Given the description of an element on the screen output the (x, y) to click on. 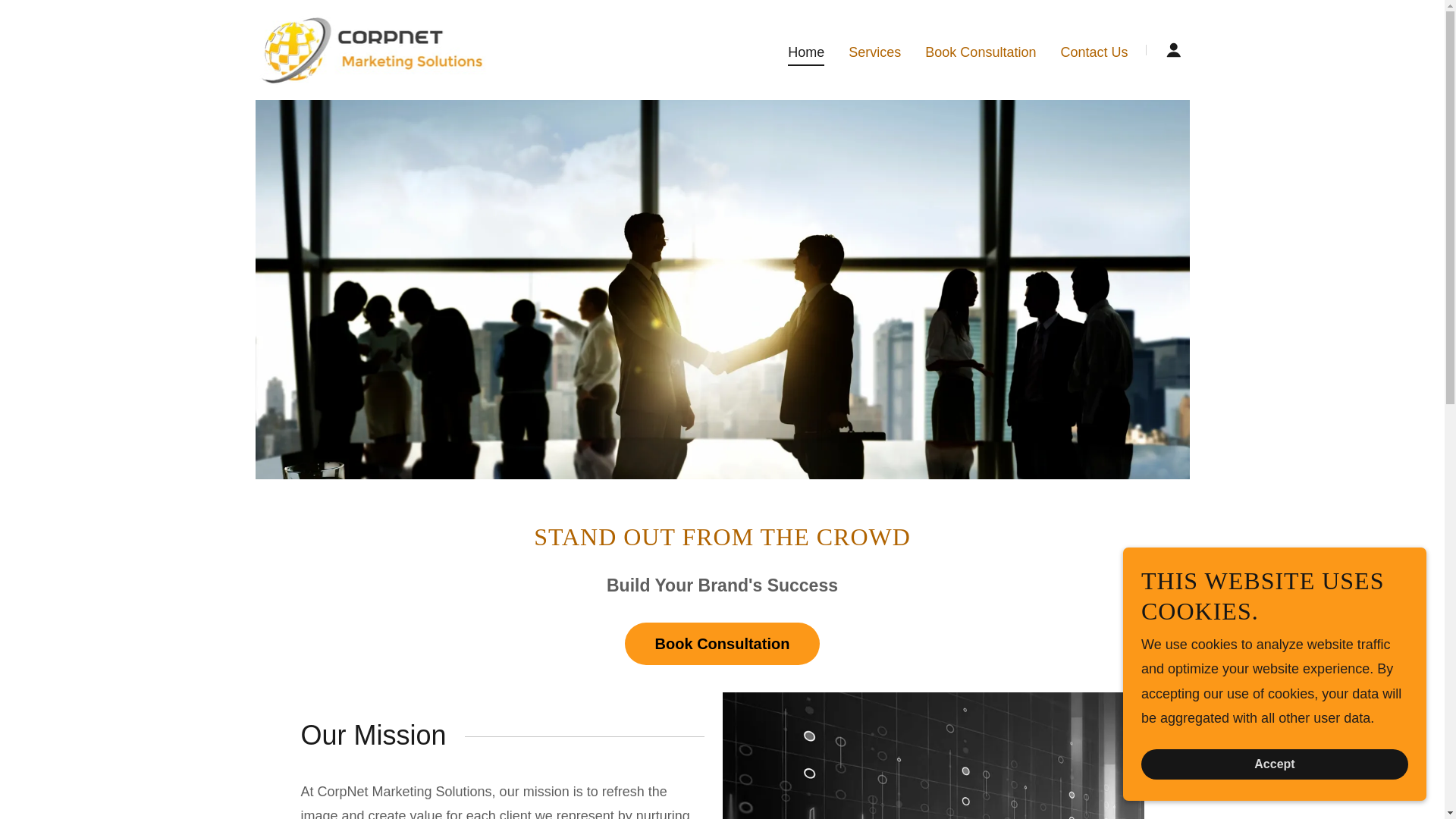
CorpNet Marketing Solutions, LLC (370, 48)
Accept (1274, 764)
Home (805, 53)
Book Consultation (722, 643)
Contact Us (1093, 50)
Book Consultation (980, 50)
Services (874, 50)
